Given the description of an element on the screen output the (x, y) to click on. 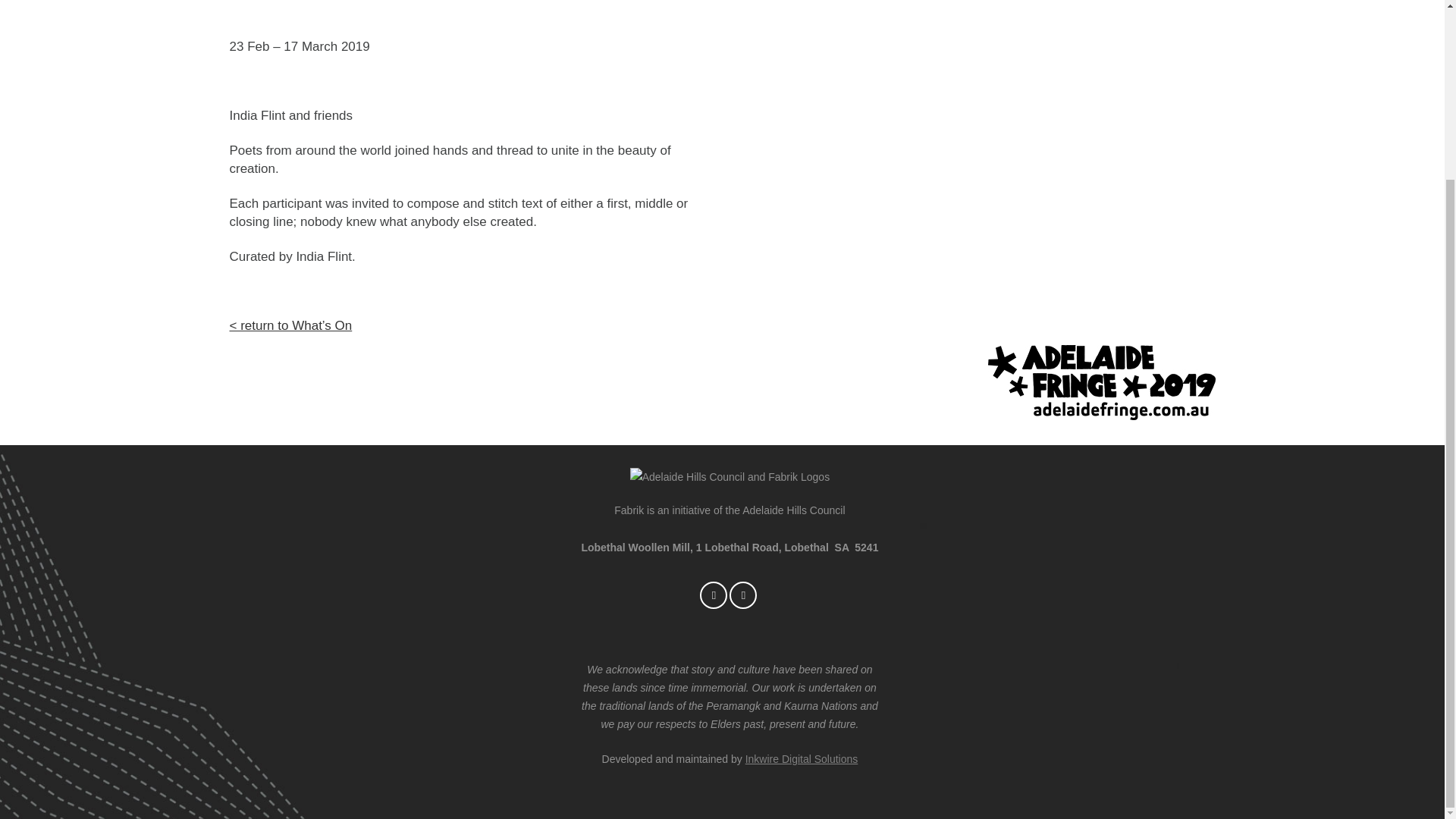
Fringelogo-1 (1100, 382)
